Given the description of an element on the screen output the (x, y) to click on. 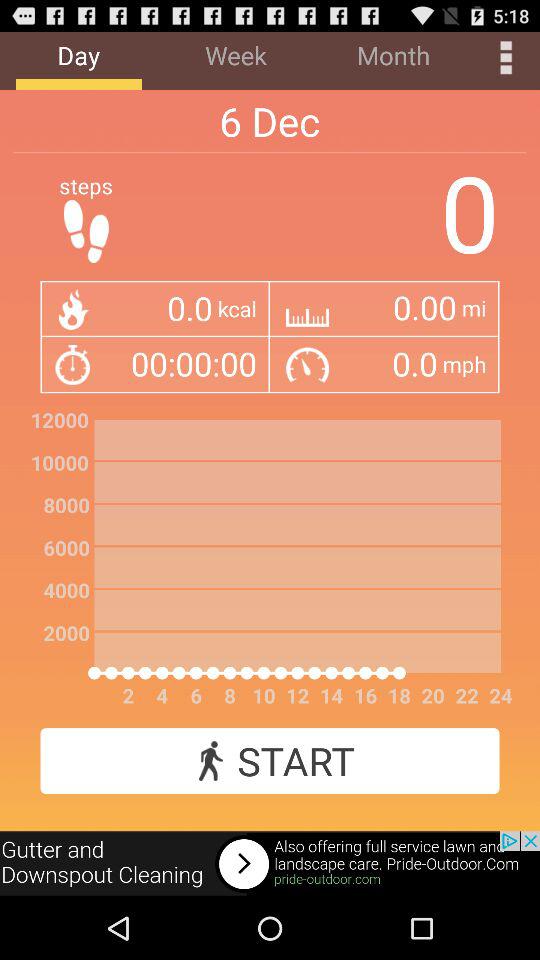
open an advertisements (270, 864)
